Given the description of an element on the screen output the (x, y) to click on. 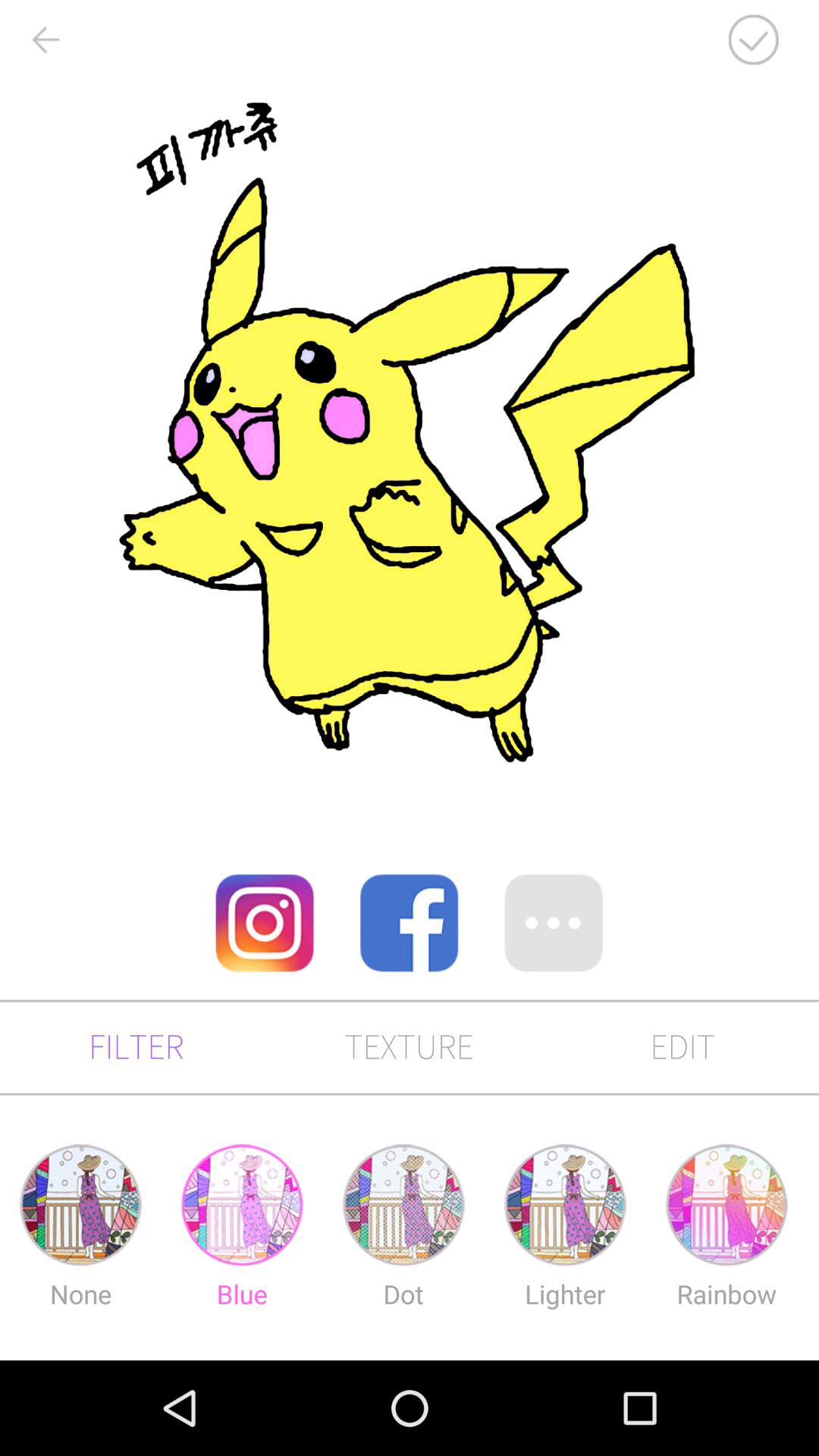
post to instagram (264, 922)
